Given the description of an element on the screen output the (x, y) to click on. 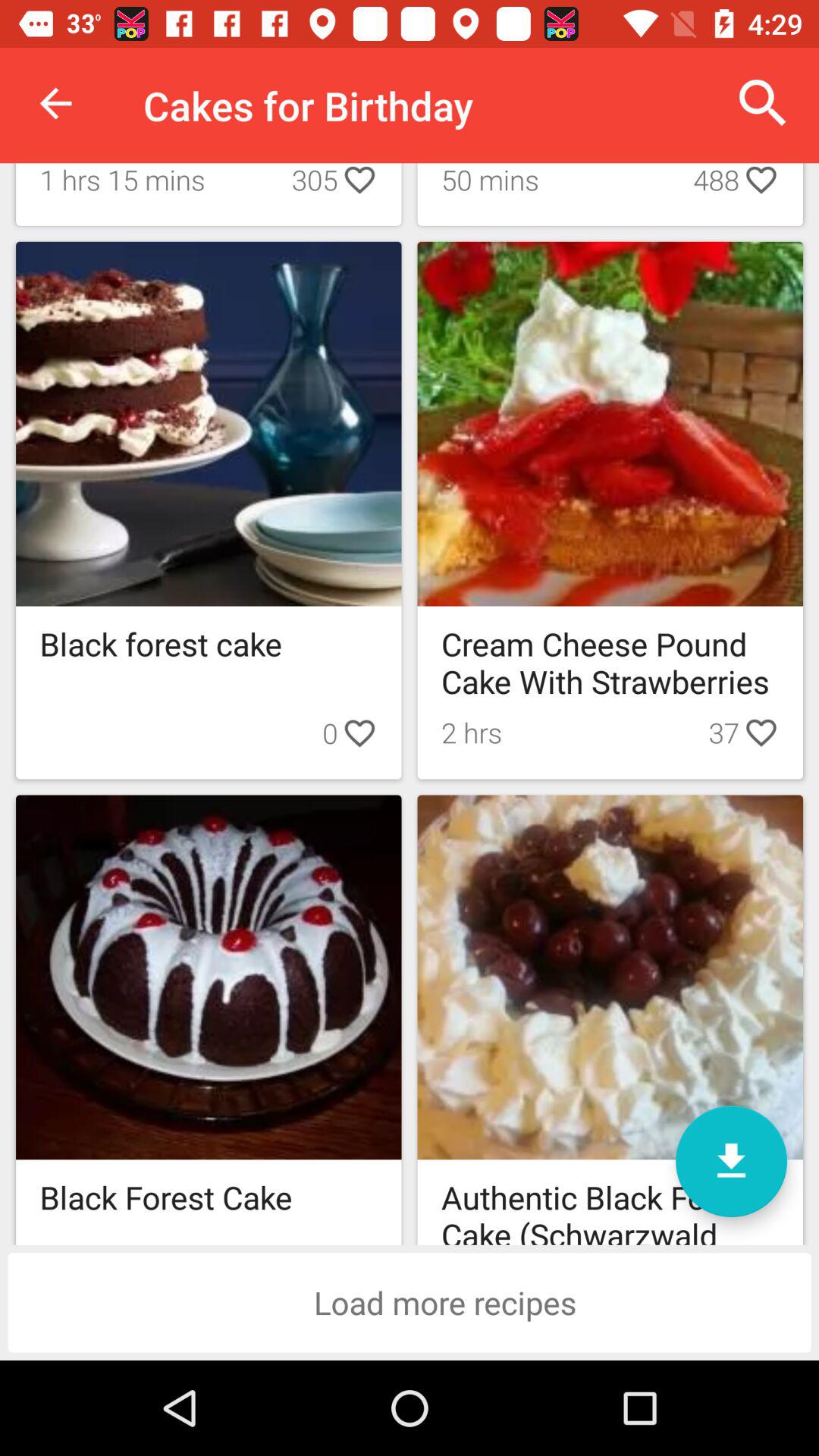
download link (731, 1161)
